Given the description of an element on the screen output the (x, y) to click on. 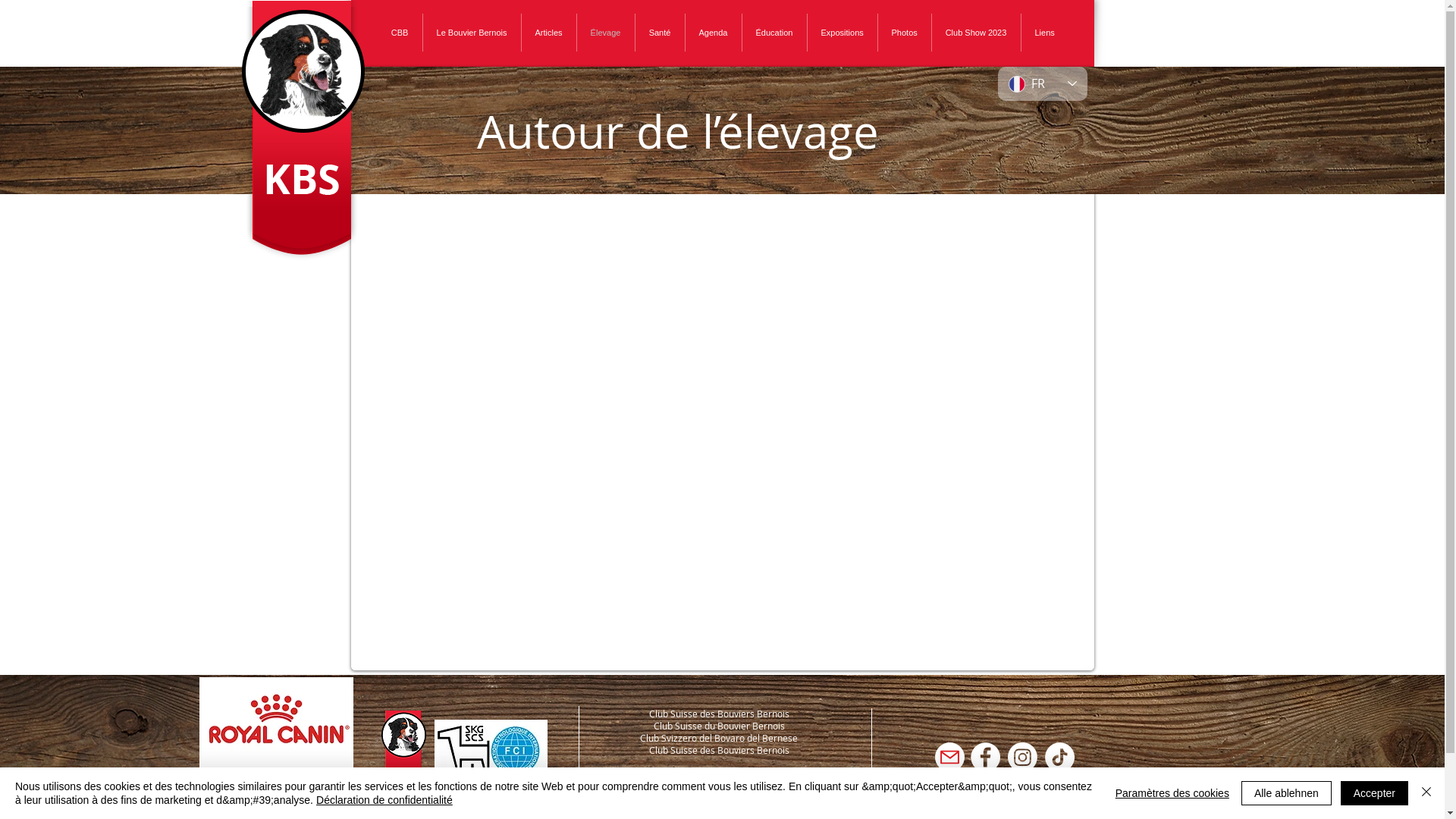
Expositions Element type: text (841, 32)
Articles Element type: text (548, 32)
Liens Element type: text (1043, 32)
Agenda Element type: text (713, 32)
Accepter Element type: text (1374, 793)
CBB Element type: text (399, 32)
Photos Element type: text (904, 32)
Club Show 2023 Element type: text (975, 32)
Le Bouvier Bernois Element type: text (471, 32)
Alle ablehnen Element type: text (1286, 793)
Wix FAQ Element type: hover (718, 457)
